Given the description of an element on the screen output the (x, y) to click on. 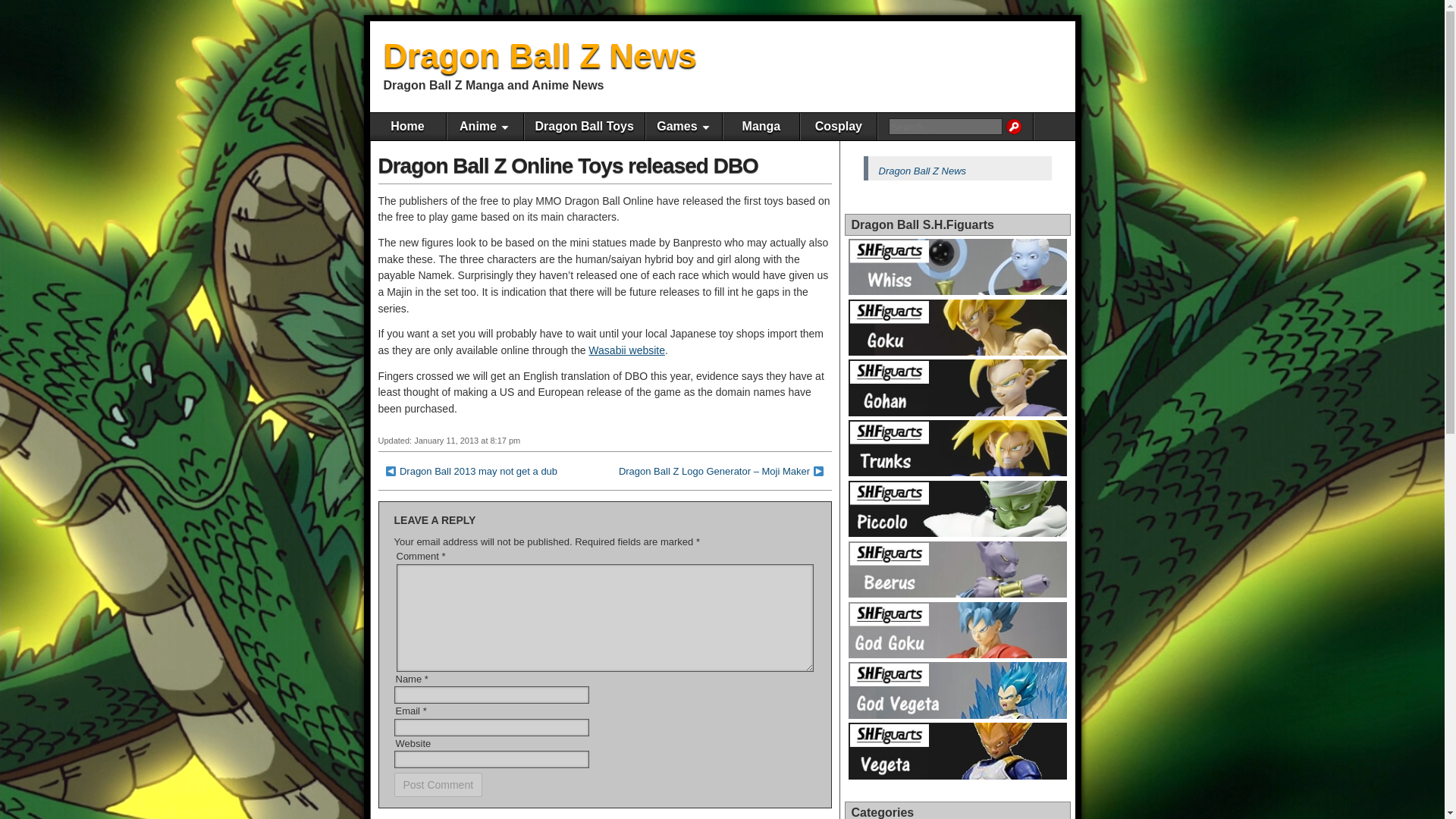
Search (1014, 126)
Wasabii (626, 349)
Dragon Ball Z News (540, 55)
Anime (484, 126)
Wasabii website (626, 349)
Post Comment (438, 784)
Search (1014, 126)
Dragon Ball Z News (921, 170)
Dragon Ball Z Online Toys released DBO (567, 165)
Dragon Ball Toys (584, 126)
